Given the description of an element on the screen output the (x, y) to click on. 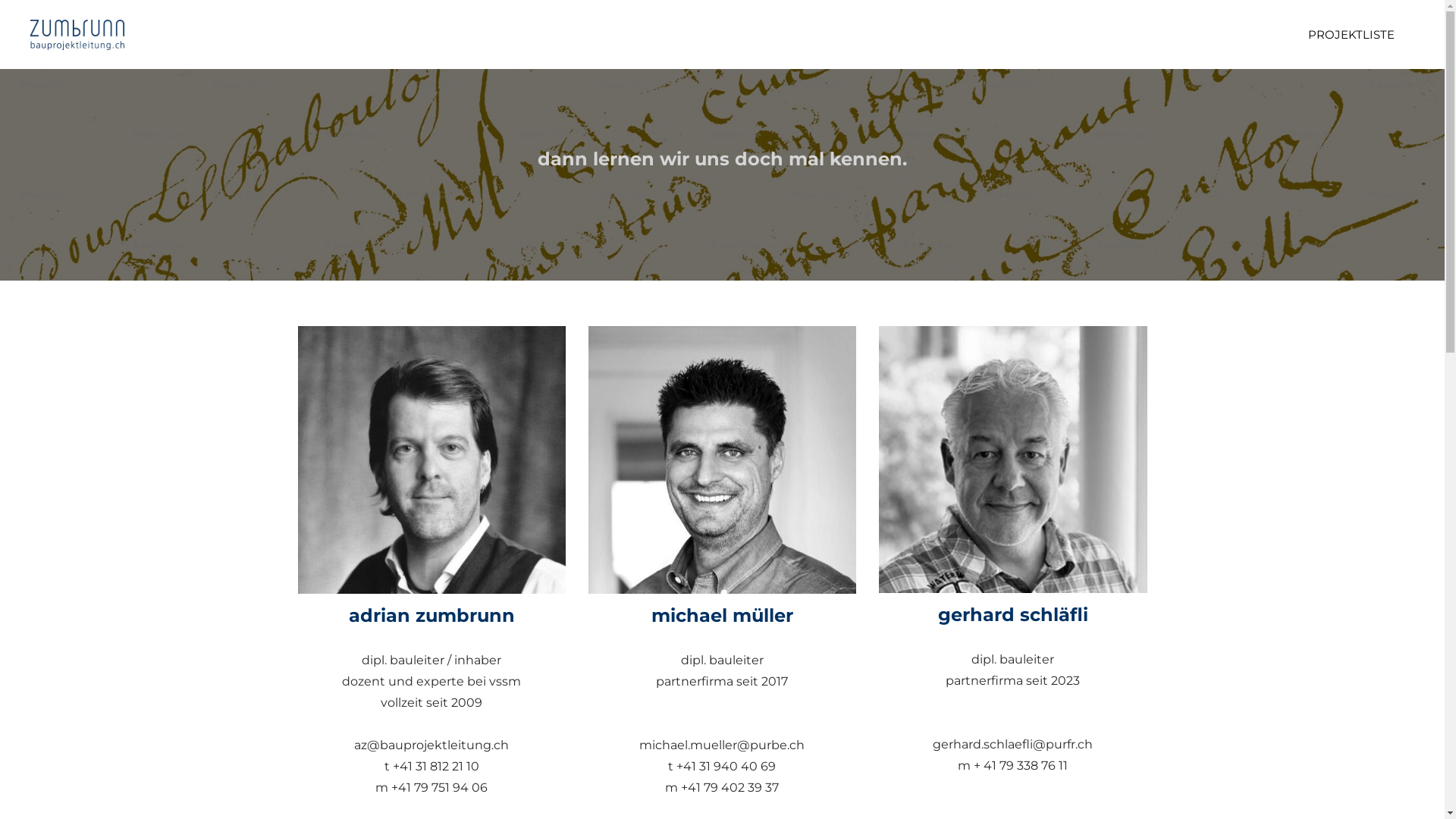
PROJEKTLISTE Element type: text (1351, 34)
